Given the description of an element on the screen output the (x, y) to click on. 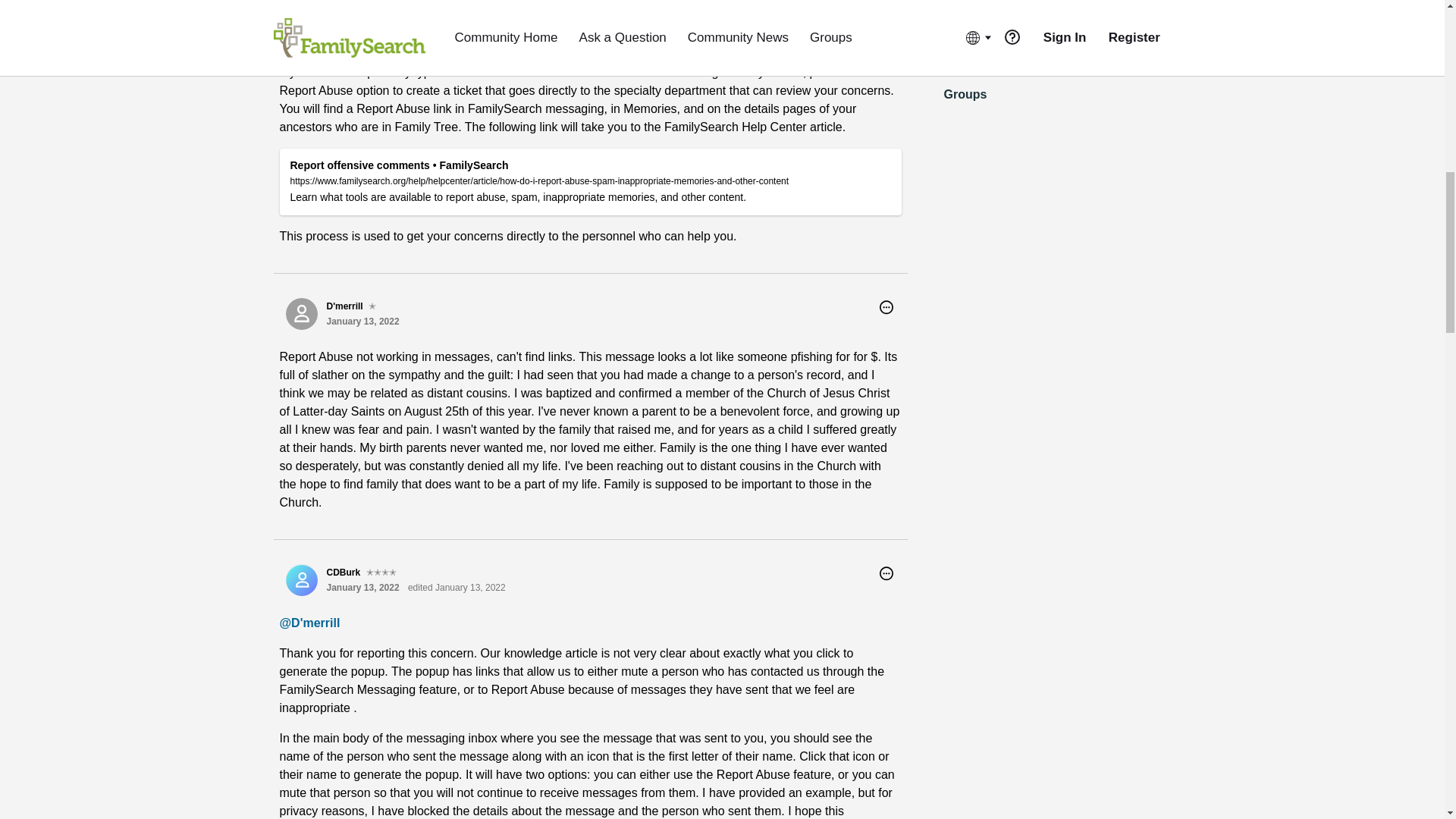
CDBurk (301, 7)
October 14, 2021 9:25PM (362, 6)
